Given the description of an element on the screen output the (x, y) to click on. 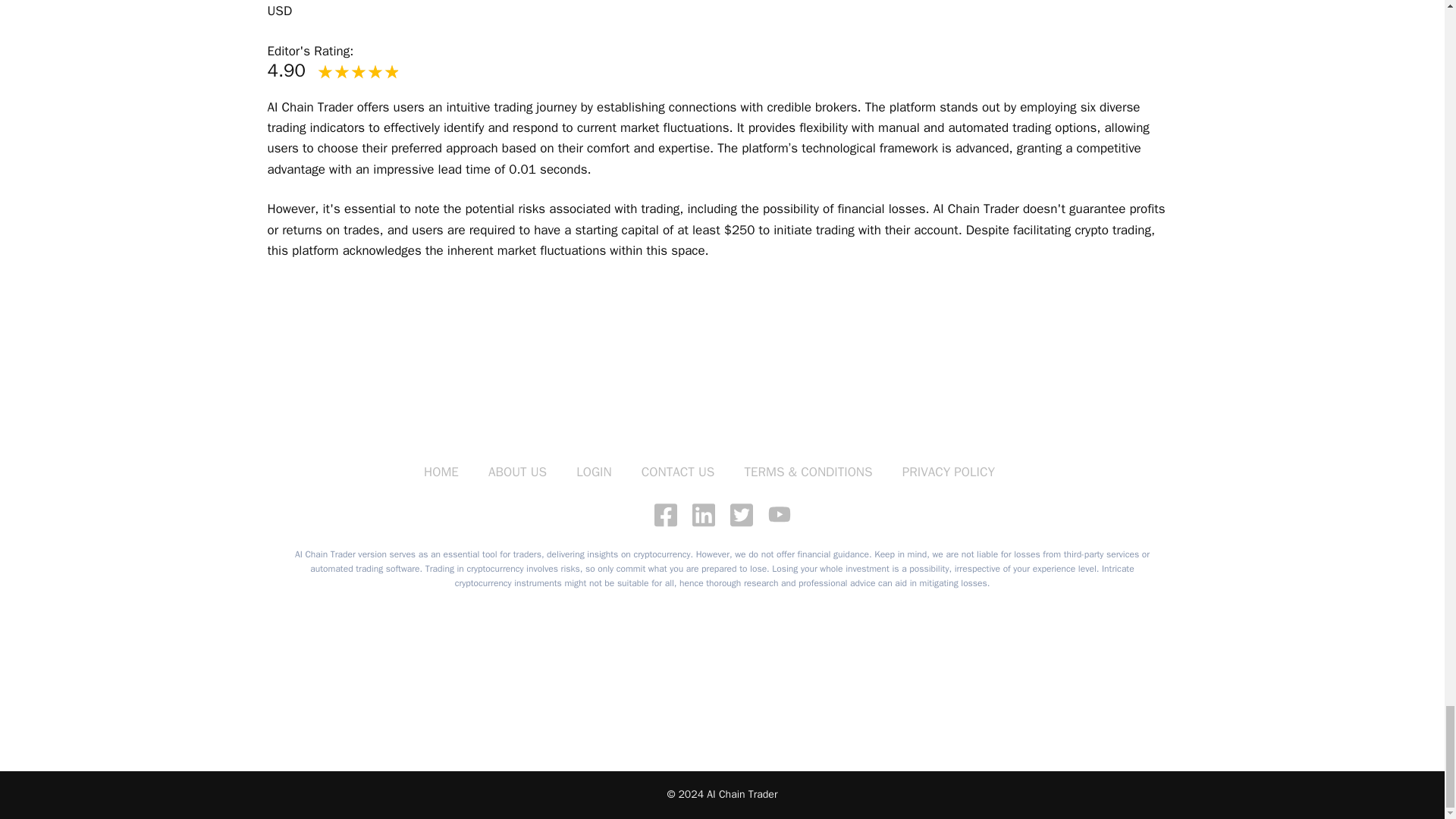
ABOUT US (517, 471)
LOGIN (593, 471)
HOME (440, 471)
CONTACT US (678, 471)
